Given the description of an element on the screen output the (x, y) to click on. 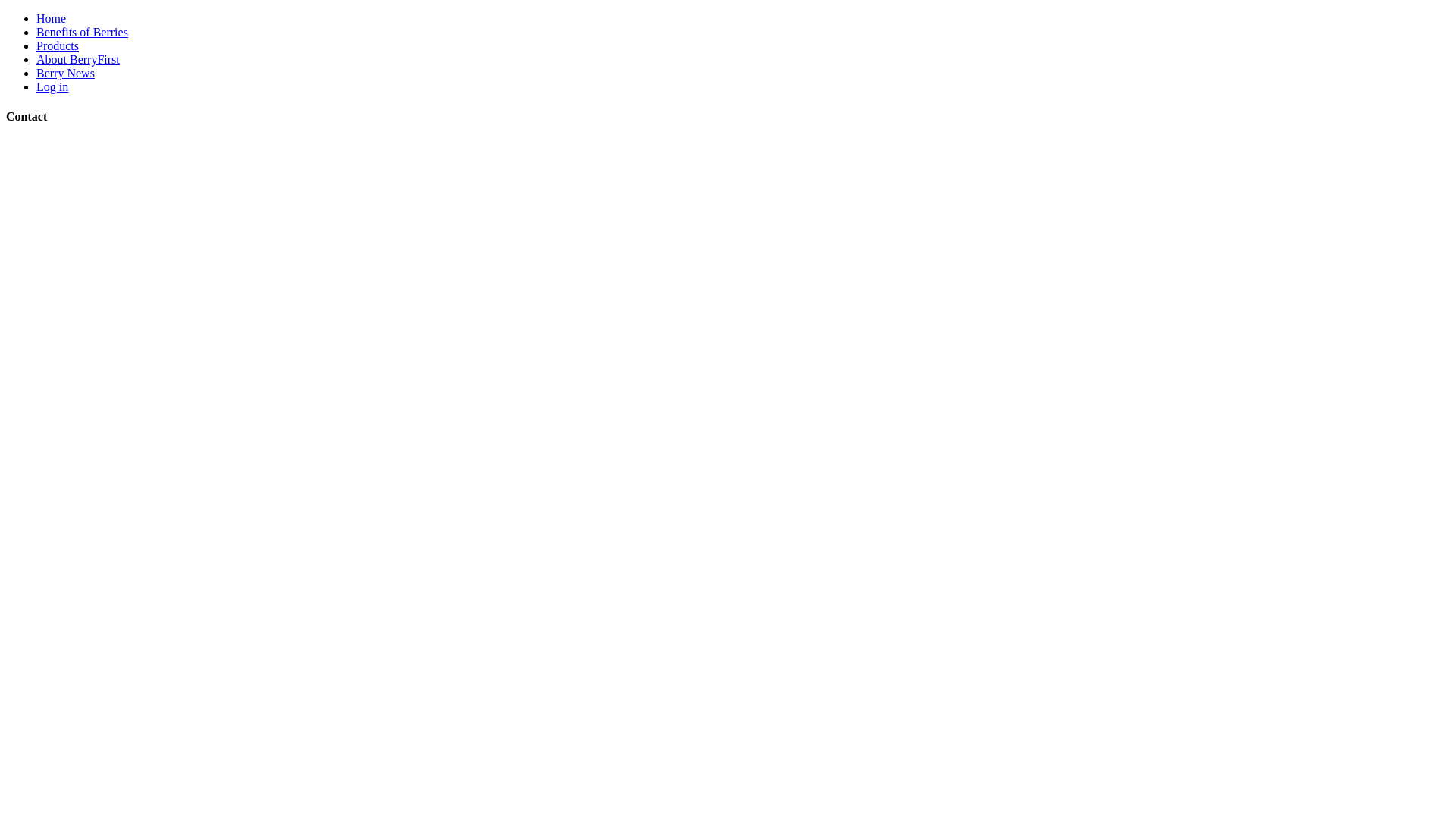
Home Element type: text (50, 18)
Benefits of Berries Element type: text (82, 31)
Products Element type: text (57, 45)
About BerryFirst Element type: text (77, 59)
Berry News Element type: text (65, 72)
Log in Element type: text (52, 86)
